Given the description of an element on the screen output the (x, y) to click on. 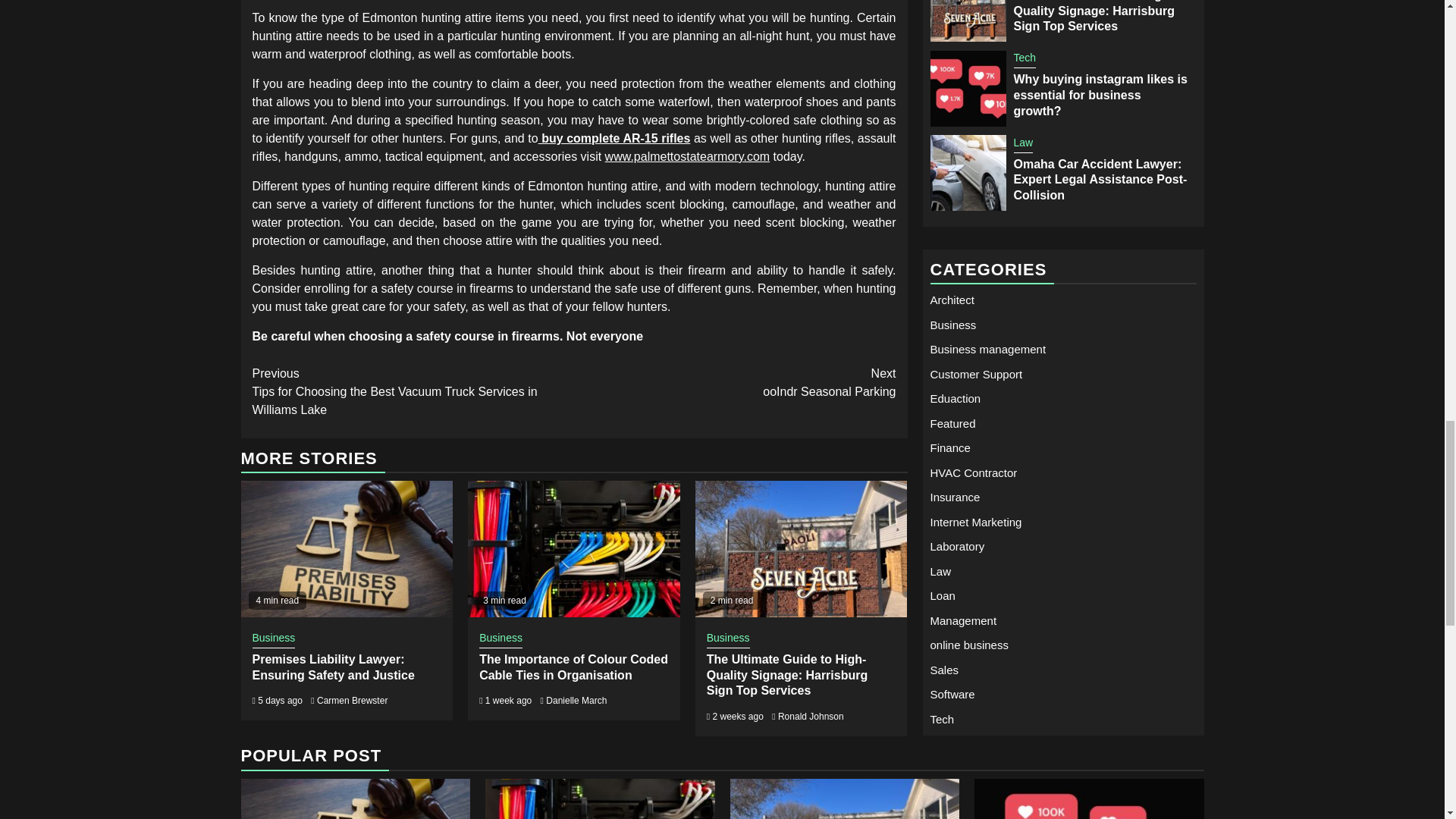
Business (273, 638)
Premises Liability Lawyer: Ensuring Safety and Justice (332, 666)
Business (727, 638)
Carmen Brewster (352, 700)
Danielle March (734, 382)
Business (576, 700)
Ronald Johnson (500, 638)
The Importance of Colour Coded Cable Ties in Organisation (810, 716)
buy complete AR-15 rifles (573, 666)
www.palmettostatearmory.com (614, 137)
